Given the description of an element on the screen output the (x, y) to click on. 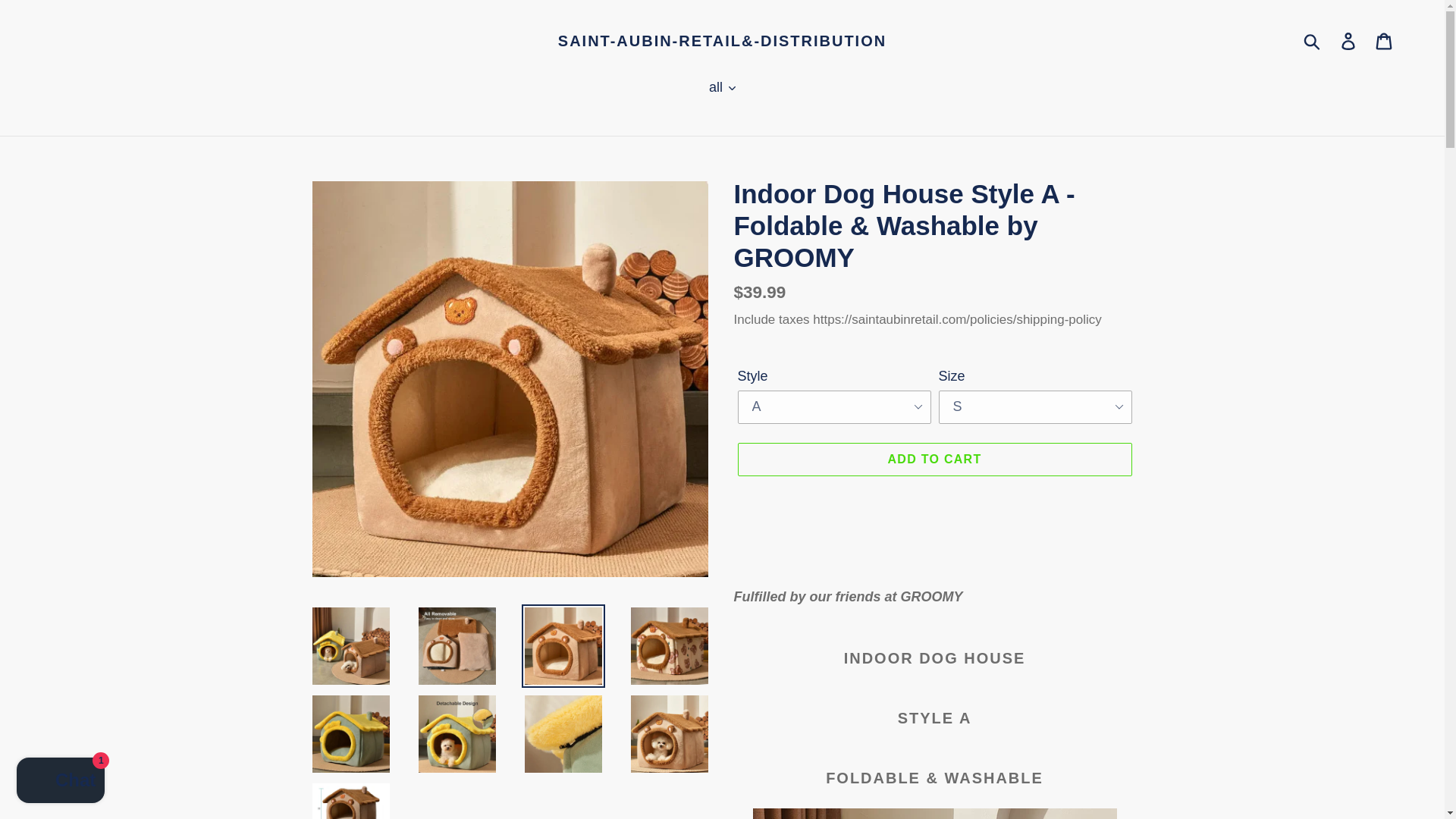
Shopify online store chat (60, 781)
Cart (1385, 40)
Submit (1313, 40)
Log in (1349, 40)
ADD TO CART (933, 459)
